Given the description of an element on the screen output the (x, y) to click on. 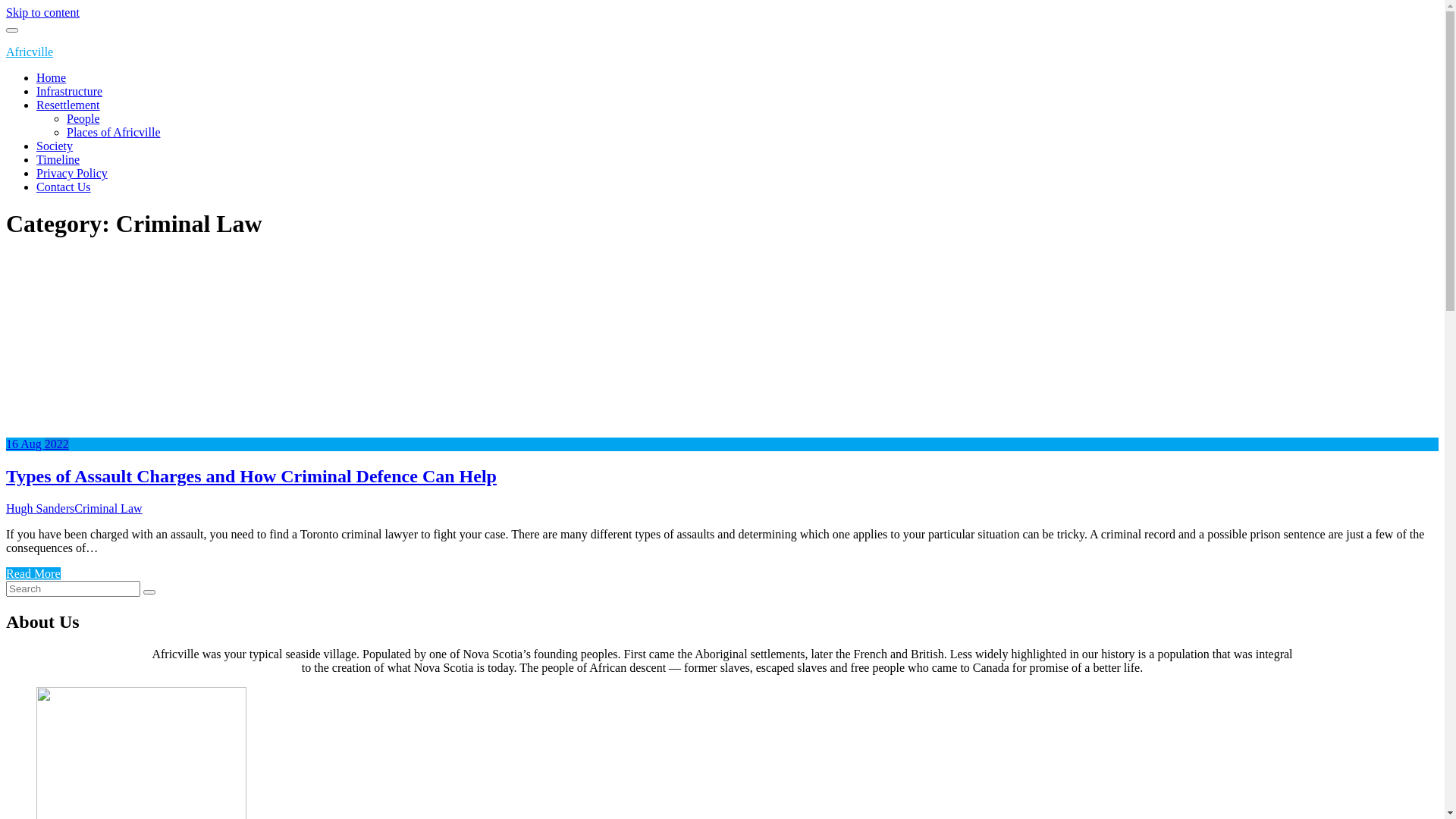
Criminal Law Element type: text (107, 508)
People Element type: text (83, 118)
Timeline Element type: text (57, 159)
Home Element type: text (50, 77)
Infrastructure Element type: text (69, 90)
Hugh Sanders Element type: text (40, 508)
Society Element type: text (54, 145)
Read More Element type: text (33, 573)
16 Aug 2022 Element type: text (37, 443)
Places of Africville Element type: text (113, 131)
Types of Assault Charges and How Criminal Defence Can Help Element type: text (251, 476)
Resettlement Element type: text (68, 104)
Africville Element type: text (29, 51)
Contact Us Element type: text (63, 186)
Skip to content Element type: text (42, 12)
Privacy Policy Element type: text (71, 172)
